Given the description of an element on the screen output the (x, y) to click on. 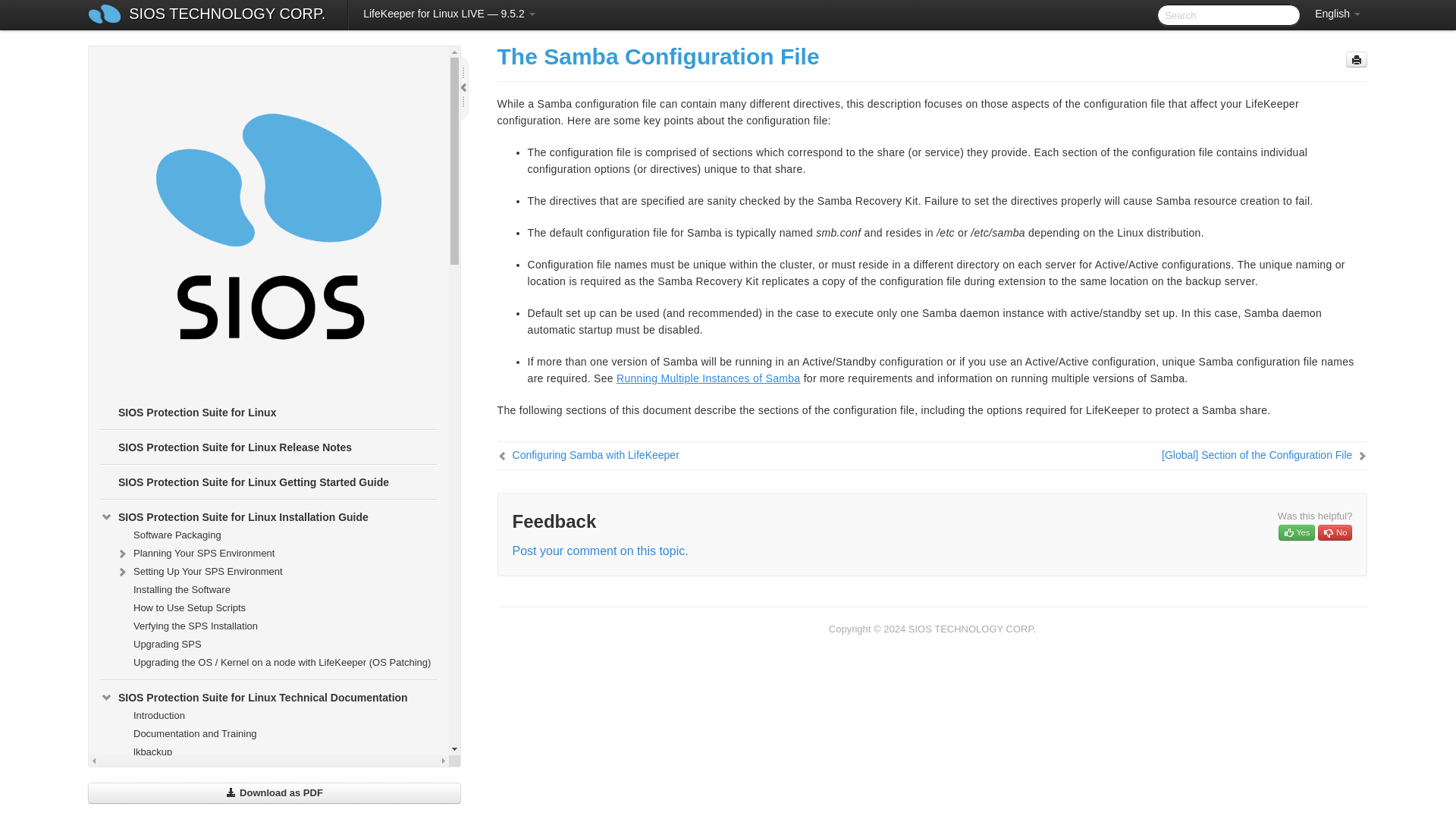
Print page (1356, 59)
SIOS TECHNOLOGY CORP. (226, 15)
English (1337, 14)
